Given the description of an element on the screen output the (x, y) to click on. 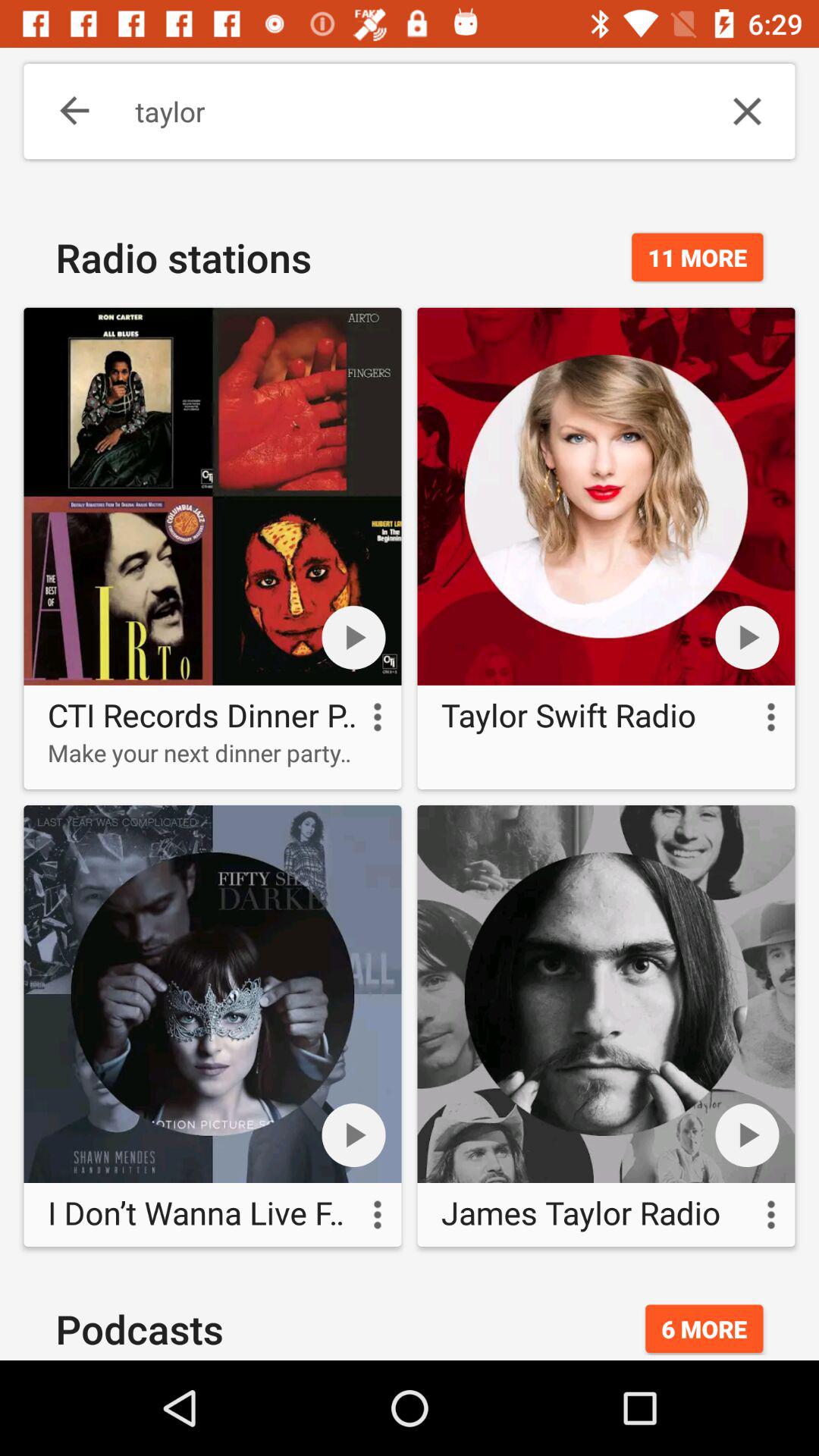
launch the icon next to podcasts (704, 1328)
